Given the description of an element on the screen output the (x, y) to click on. 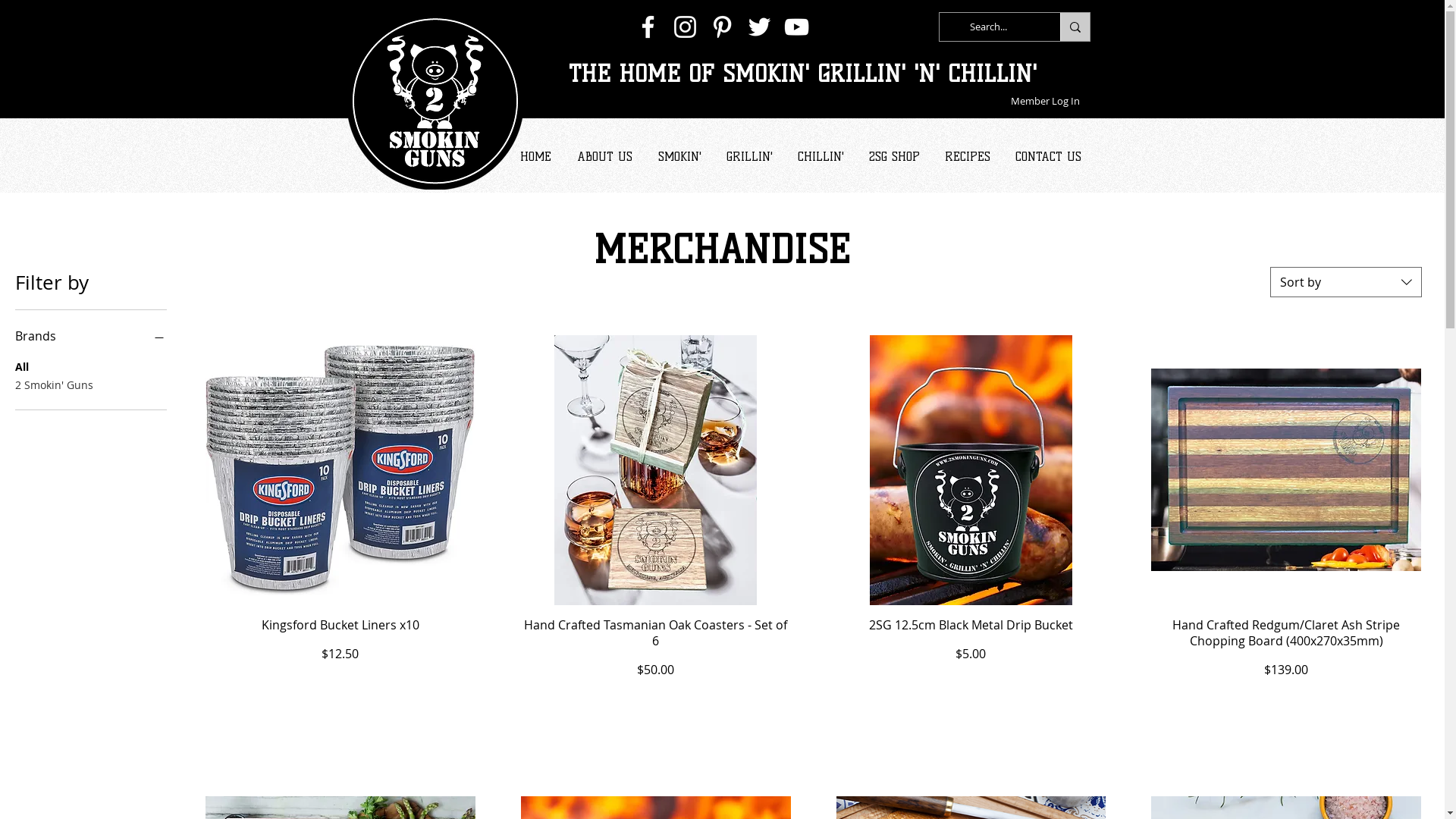
ABOUT US Element type: text (604, 156)
HOME Element type: text (534, 156)
Sort by Element type: text (1345, 281)
CONTACT US Element type: text (1047, 156)
GRILLIN' Element type: text (749, 156)
Brands Element type: text (90, 335)
Hand Crafted Tasmanian Oak Coasters - Set of 6
Price
$50.00 Element type: text (655, 647)
Kingsford Bucket Liners x10
Price
$12.50 Element type: text (340, 647)
CHILLIN' Element type: text (820, 156)
Member Log In Element type: text (1044, 101)
2SG 12.5cm Black Metal Drip Bucket
Price
$5.00 Element type: text (970, 647)
SMOKIN' Element type: text (678, 156)
RECIPES Element type: text (967, 156)
